Given the description of an element on the screen output the (x, y) to click on. 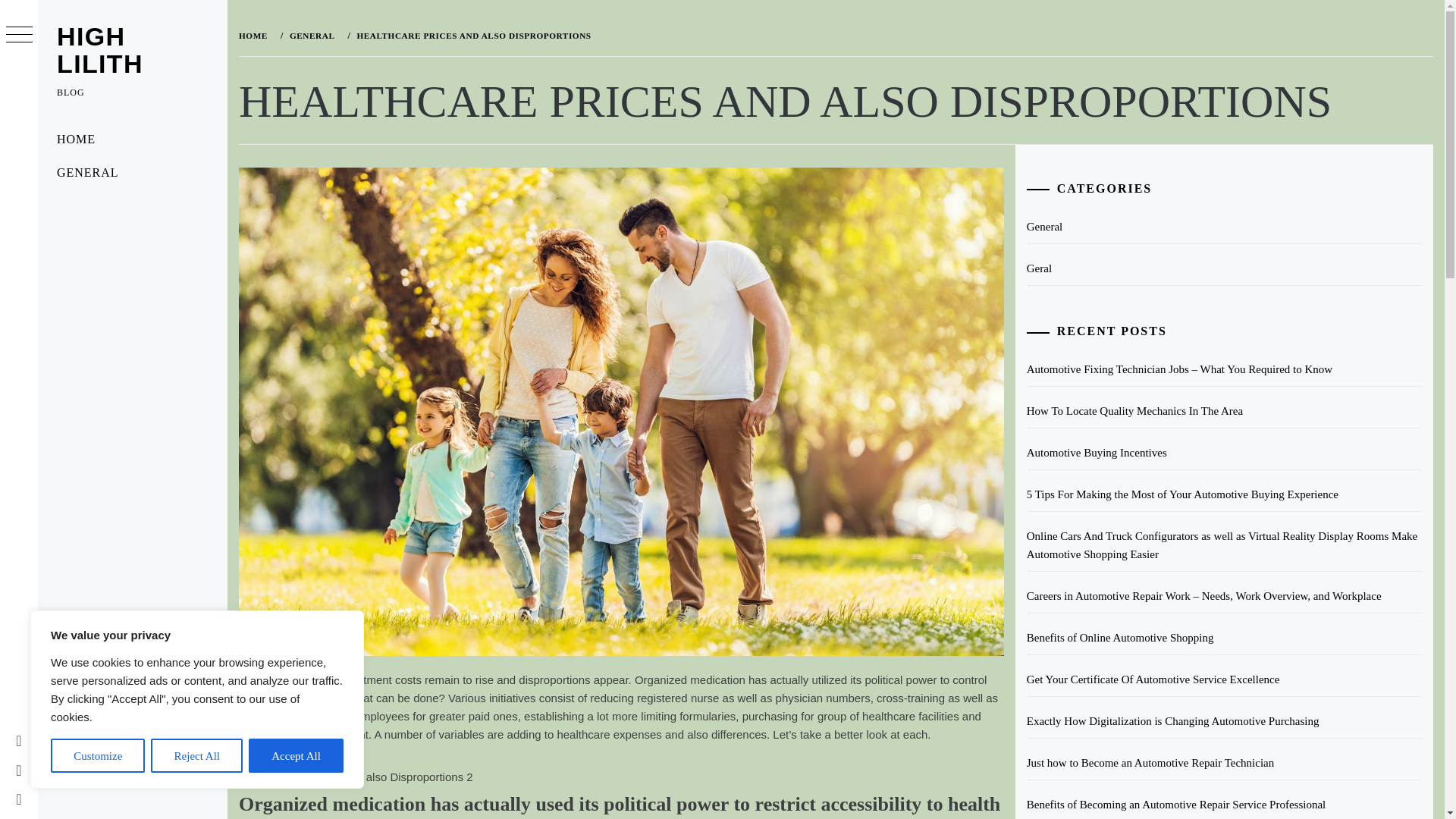
GENERAL (310, 35)
Reject All (197, 755)
HOME (255, 35)
Customize (97, 755)
HIGH LILITH (99, 49)
HEALTHCARE PRICES AND ALSO DISPROPORTIONS (471, 35)
Accept All (295, 755)
GENERAL (132, 172)
HOME (132, 139)
